Given the description of an element on the screen output the (x, y) to click on. 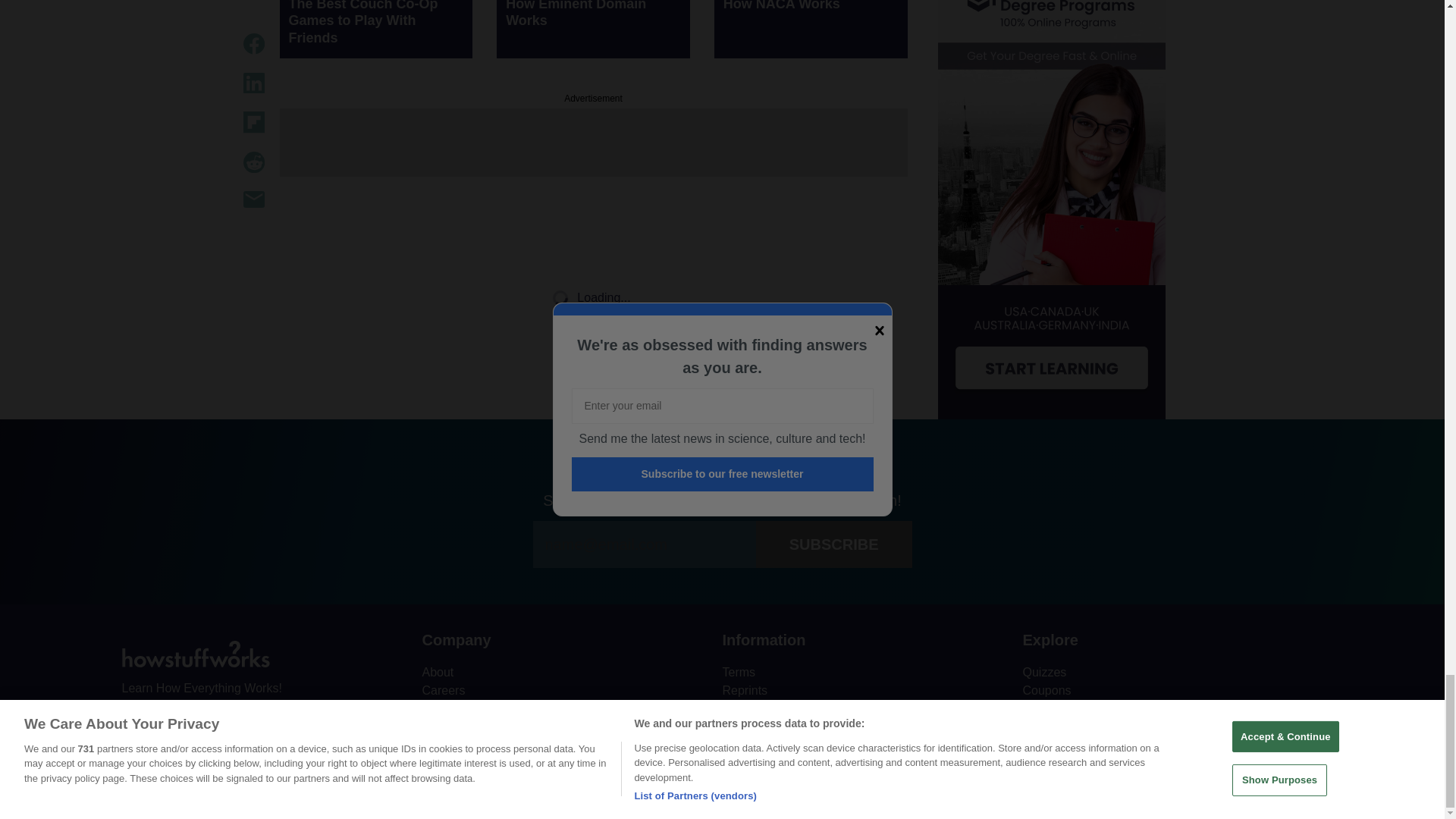
Visit HowStuffWorks on YouTube (173, 723)
Subscribe (833, 544)
Visit HowStuffWorks on Instagram (213, 723)
Visit HowStuffWorks on Facebook (134, 723)
